Given the description of an element on the screen output the (x, y) to click on. 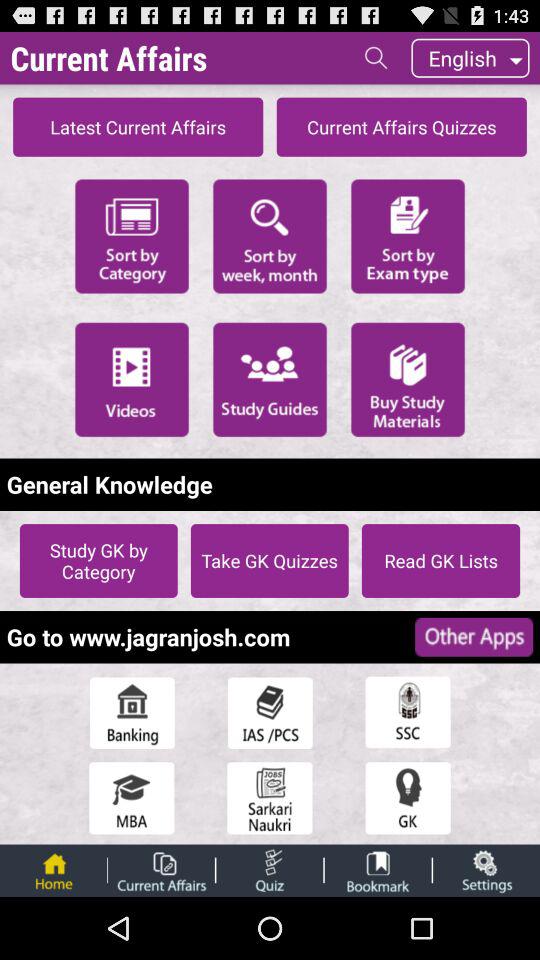
tap icon to the right of the go to www (474, 636)
